Given the description of an element on the screen output the (x, y) to click on. 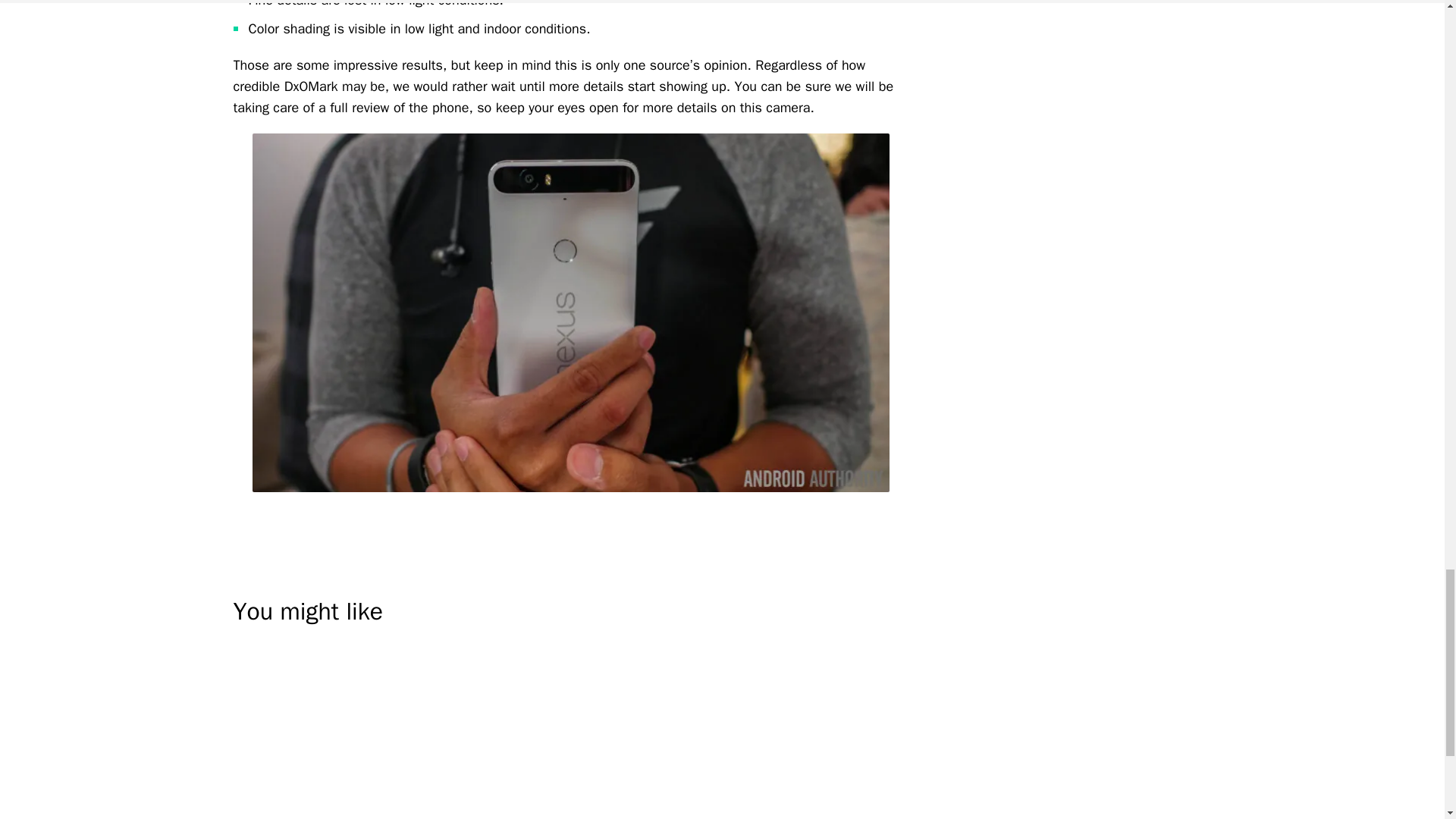
NEWS (247, 818)
